Given the description of an element on the screen output the (x, y) to click on. 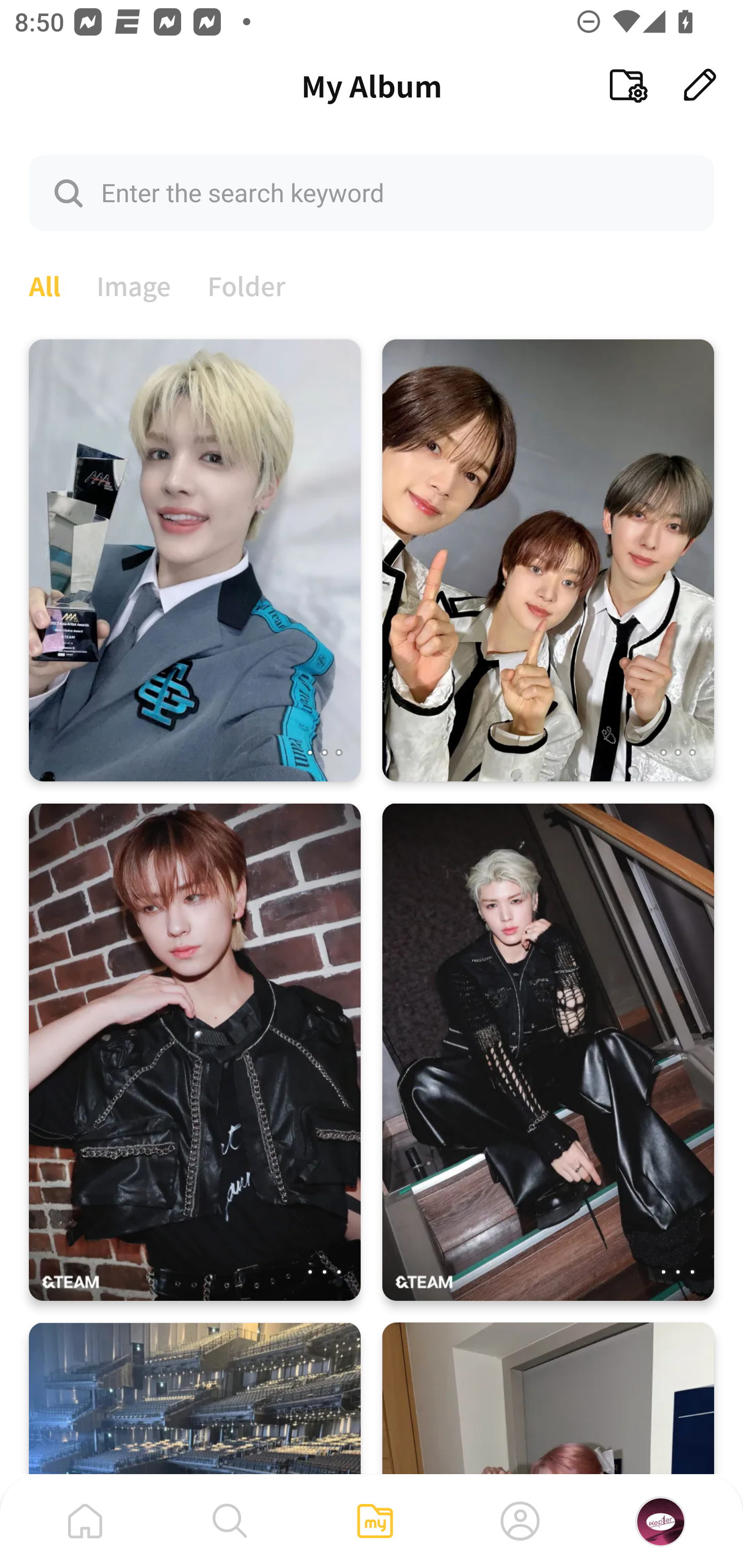
Enter the search keyword (371, 192)
All (44, 284)
Image (133, 284)
Folder (246, 284)
